Given the description of an element on the screen output the (x, y) to click on. 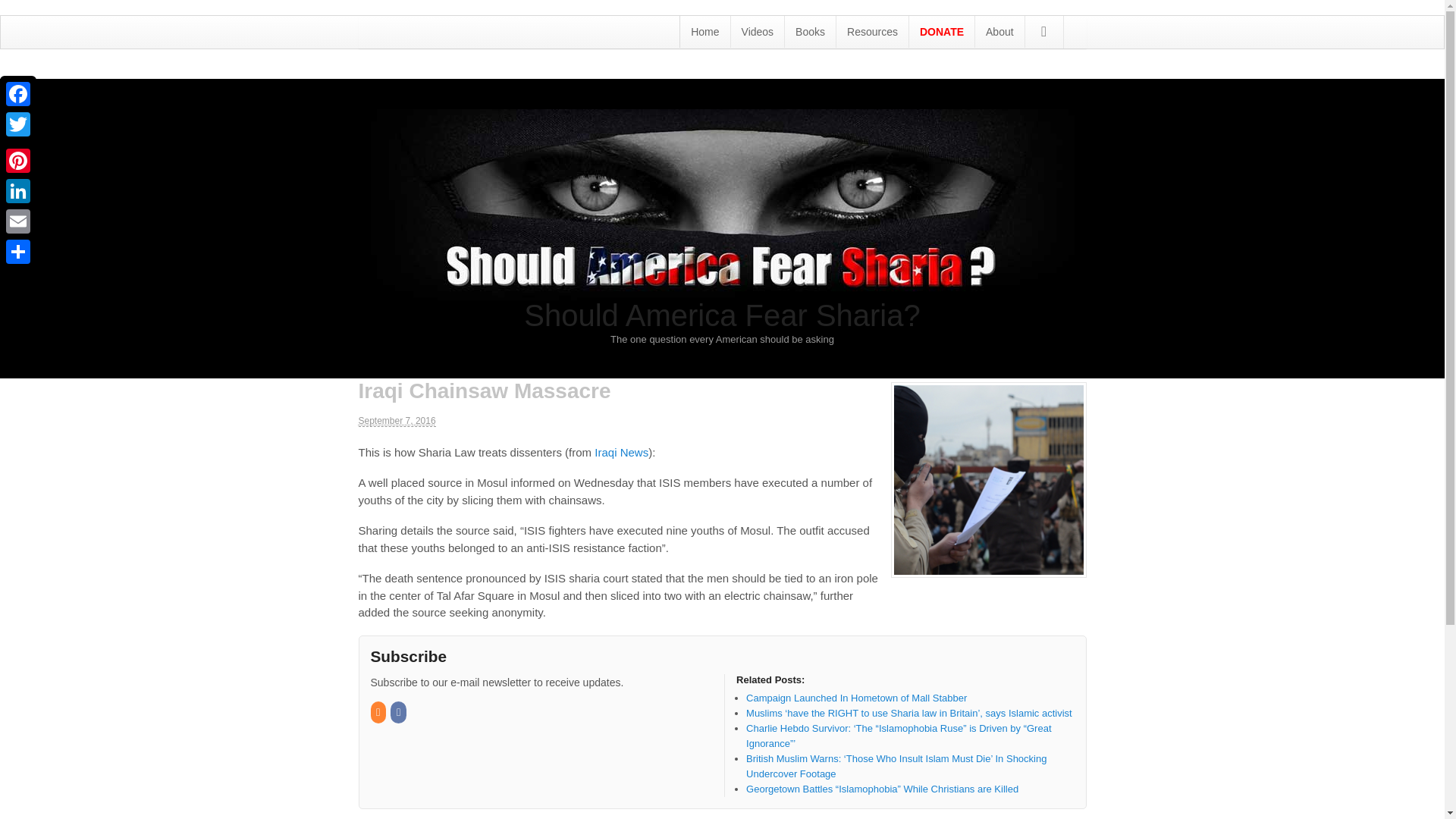
Should America Fear Sharia? (722, 315)
Resources (871, 31)
About (1000, 31)
The one question every American should be asking (722, 292)
LinkedIn (17, 191)
LinkedIn (17, 191)
Pinterest (17, 160)
Iraqi Chainsaw Massacre (987, 480)
Campaign Launched In Hometown of Mall Stabber (855, 697)
Campaign Launched In Hometown of Mall Stabber (855, 697)
RSS (378, 712)
Videos (757, 31)
Twitter (17, 123)
DONATE (941, 31)
Iraqi News (620, 451)
